Given the description of an element on the screen output the (x, y) to click on. 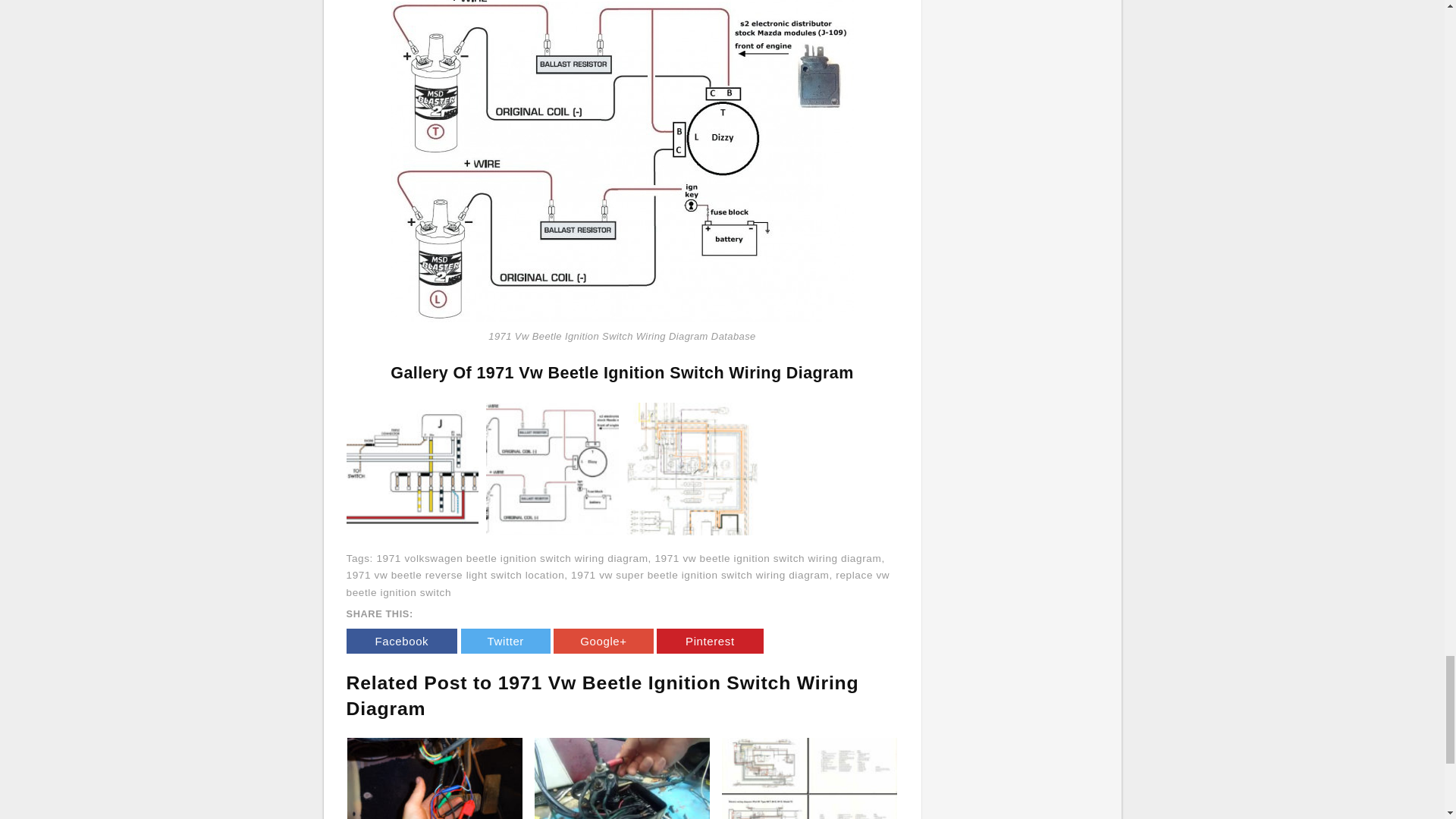
1971 Vw Beetle Ignition Switch Wiring Diagram Database (622, 154)
1971 volkswagen beetle ignition switch wiring diagram (511, 558)
replace vw beetle ignition switch (617, 583)
06 Ford Mustang Ignition Wiring Diagram (434, 778)
Facebook (401, 640)
1971 Vw Beetle Ignition Switch Wiring Diagram Database (552, 467)
1971 vw beetle ignition switch wiring diagram (766, 558)
1971 vw super beetle ignition switch wiring diagram (699, 574)
1971 vw beetle reverse light switch location (455, 574)
Twitter (505, 640)
Pinterest (709, 640)
